Given the description of an element on the screen output the (x, y) to click on. 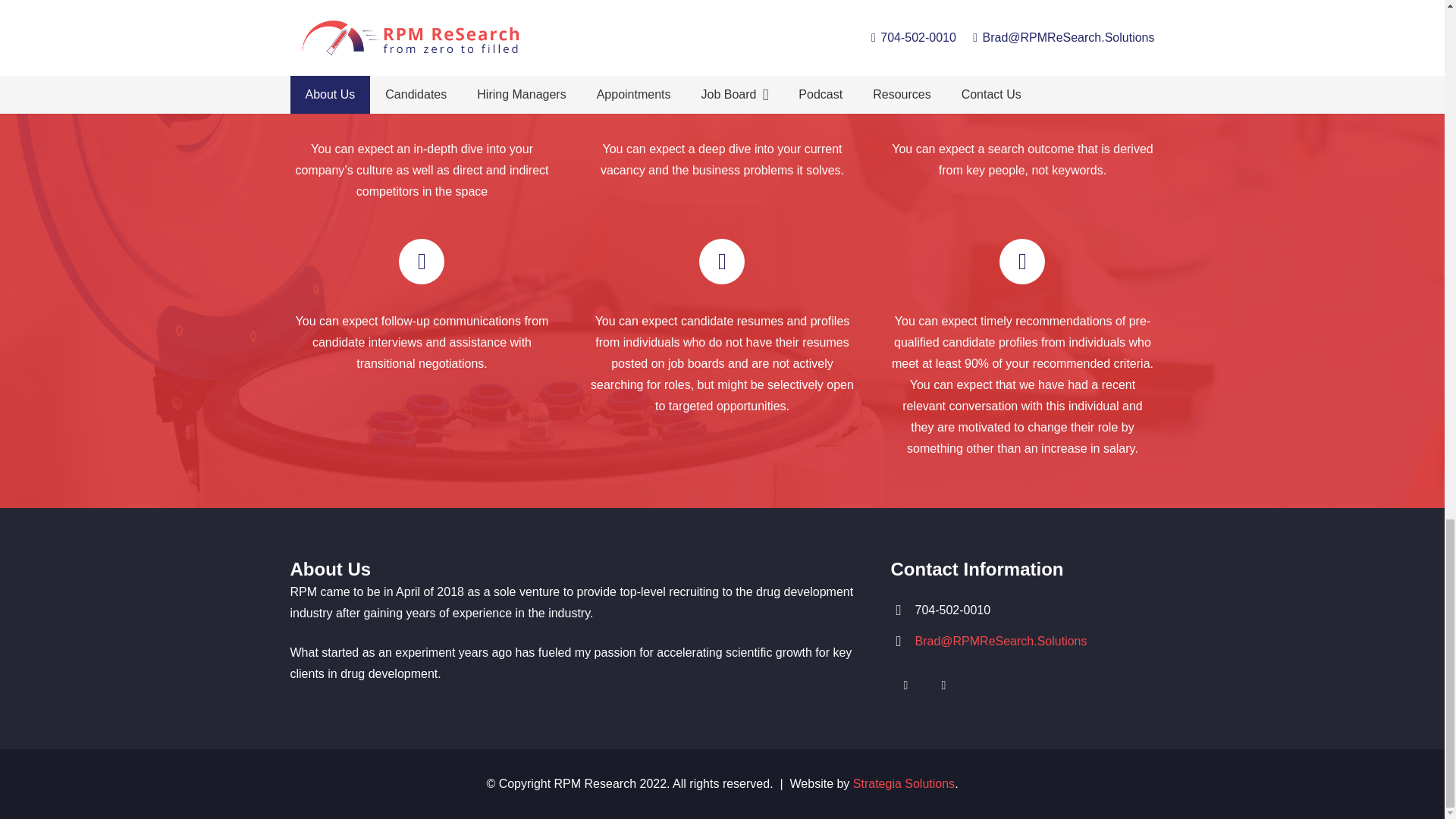
Facebook (943, 685)
LinkedIn (904, 685)
Strategia Solutions (904, 783)
